Given the description of an element on the screen output the (x, y) to click on. 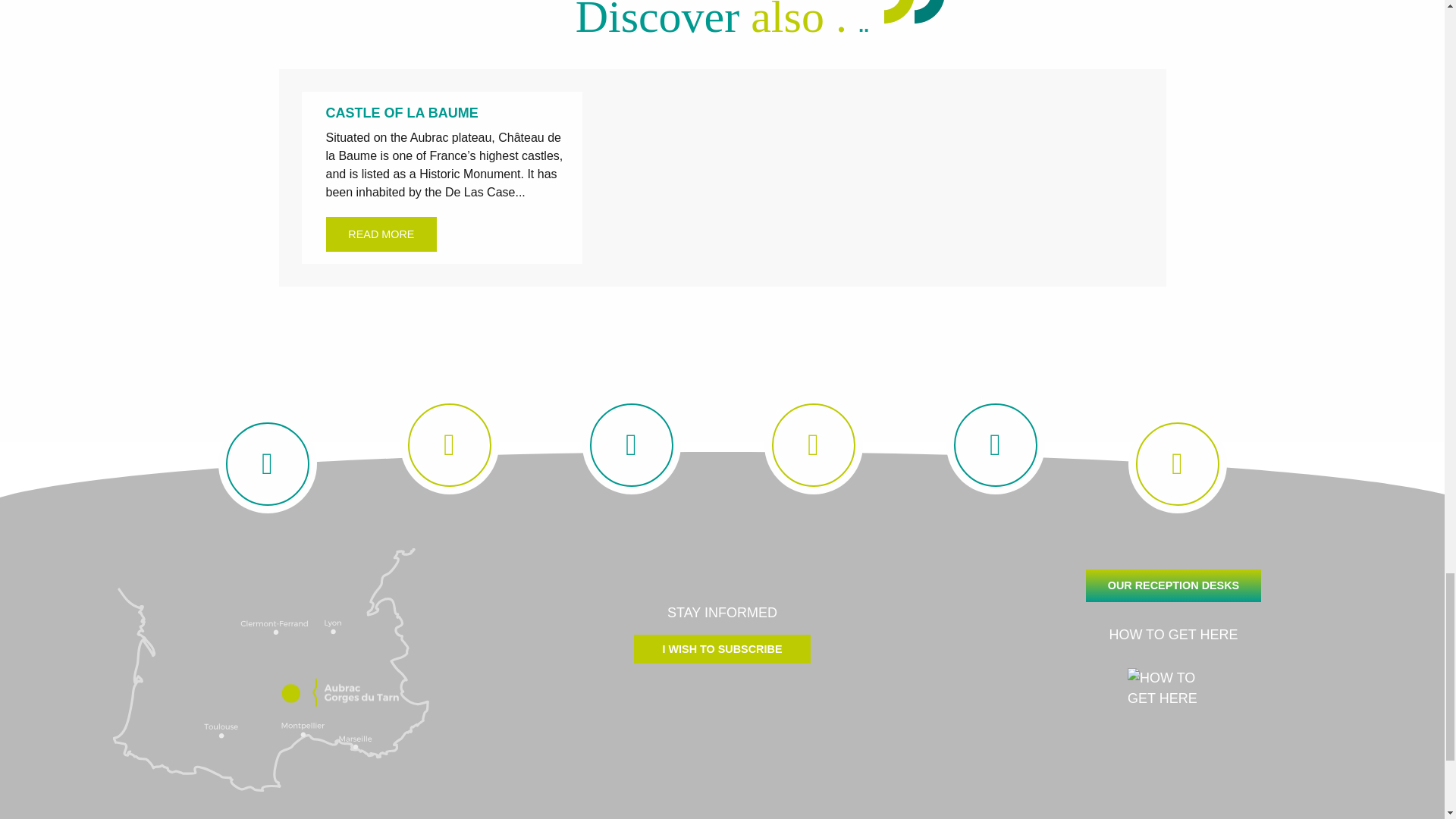
OUR RECEPTION DESKS (1173, 585)
HOW TO GET HERE (1172, 666)
I WISH TO SUBSCRIBE (721, 648)
